Given the description of an element on the screen output the (x, y) to click on. 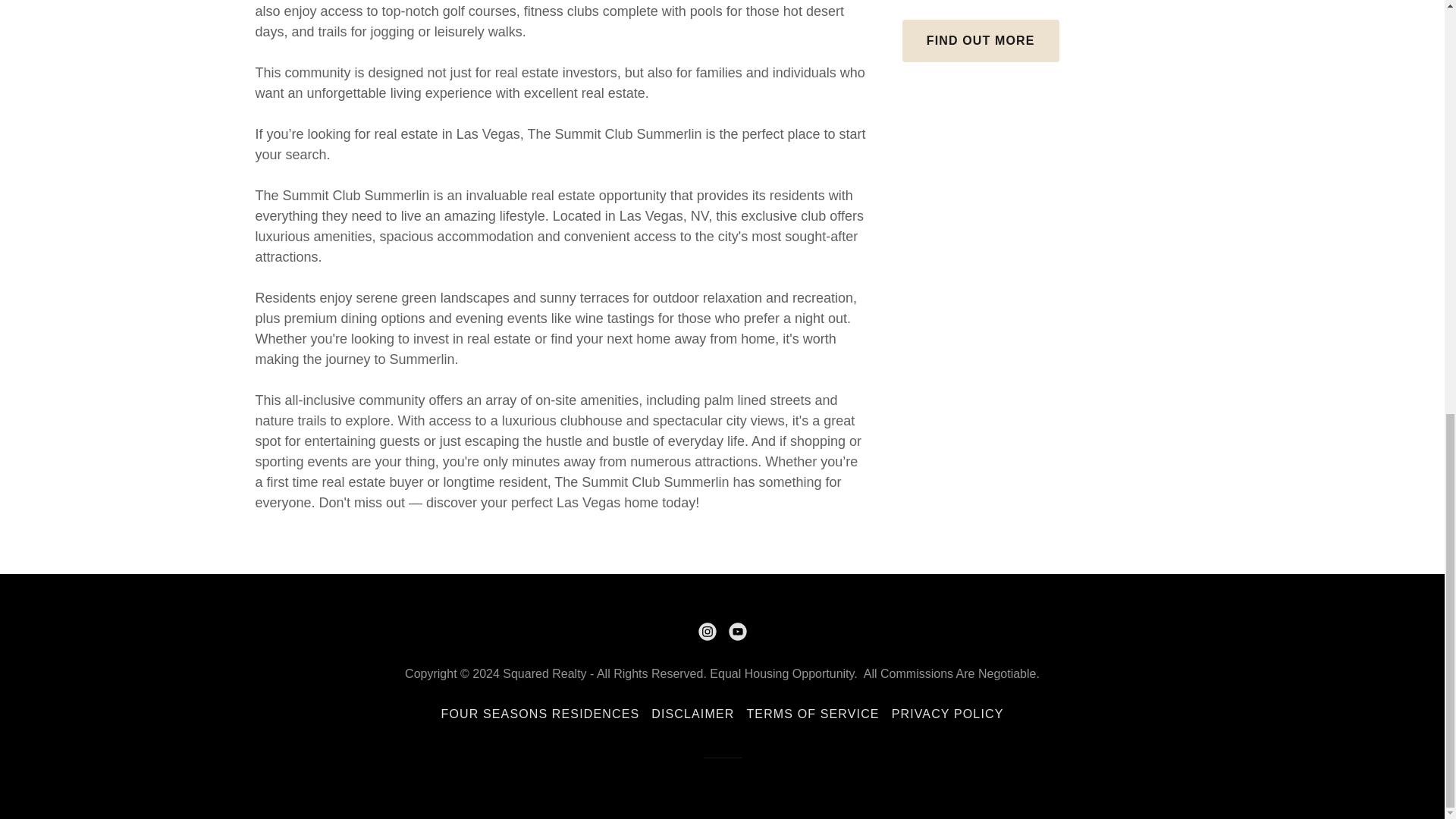
DISCLAIMER (692, 714)
FOUR SEASONS RESIDENCES (540, 714)
TERMS OF SERVICE (812, 714)
PRIVACY POLICY (947, 714)
FIND OUT MORE (980, 40)
